Given the description of an element on the screen output the (x, y) to click on. 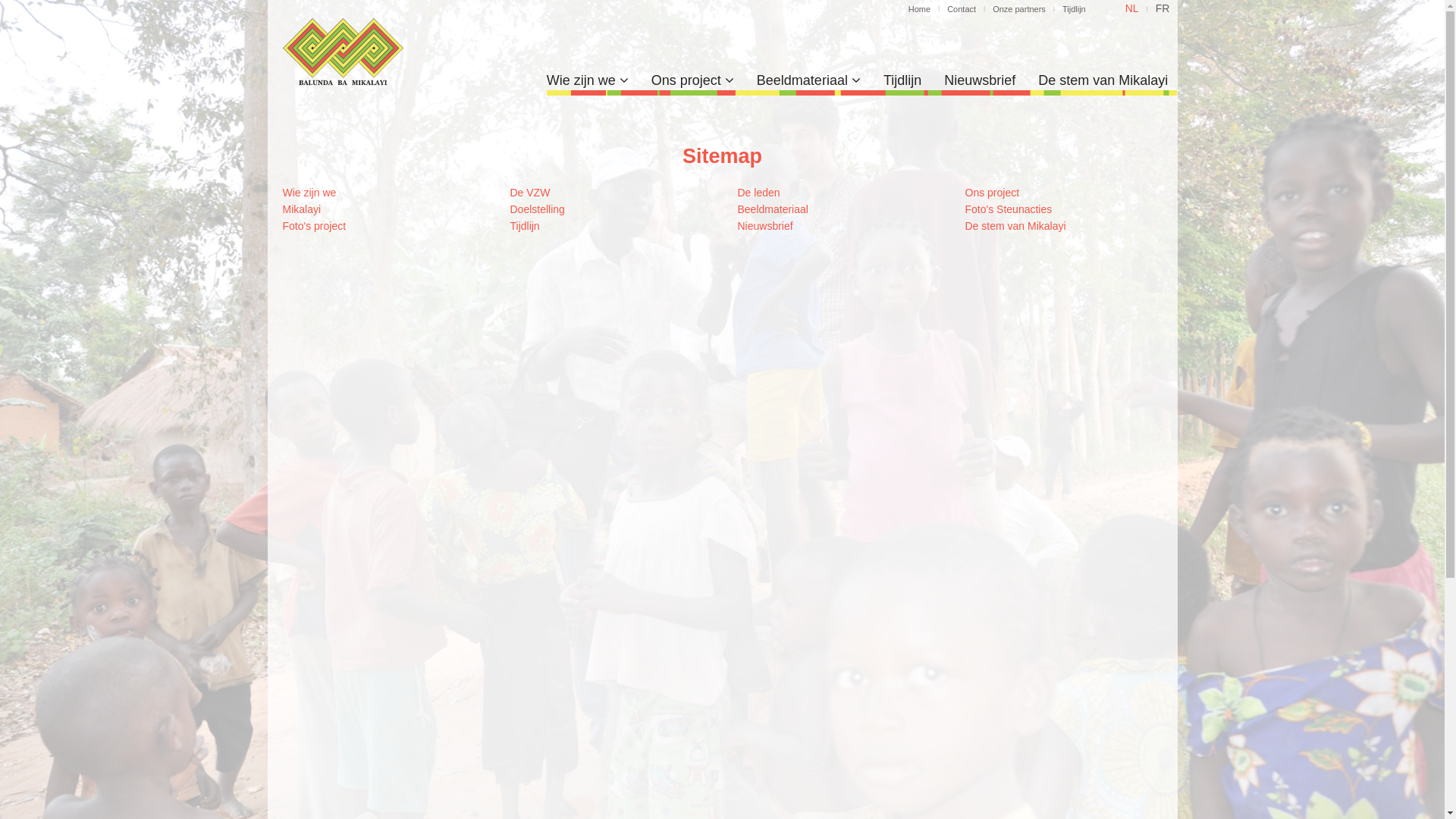
Onze partners Element type: text (1018, 8)
Foto's project Element type: text (313, 225)
Ons project Element type: text (692, 80)
Nieuwsbrief Element type: text (979, 80)
Ons project Element type: text (991, 192)
Wie zijn we Element type: text (587, 80)
De stem van Mikalayi Element type: text (1014, 225)
Tijdlijn Element type: text (524, 225)
De leden Element type: text (758, 192)
De stem van Mikalayi Element type: text (1102, 80)
Beeldmateriaal Element type: text (772, 209)
Mikalayi Element type: text (301, 209)
Nieuwsbrief Element type: text (764, 225)
Tijdlijn Element type: text (1073, 8)
Home Element type: text (919, 8)
FR Element type: text (1162, 8)
Doelstelling Element type: text (536, 209)
Foto's Steunacties Element type: text (1007, 209)
NL Element type: text (1132, 8)
Contact Element type: text (961, 8)
Tijdlijn Element type: text (902, 80)
Beeldmateriaal Element type: text (808, 80)
De VZW Element type: text (529, 192)
Wie zijn we Element type: text (308, 192)
